Given the description of an element on the screen output the (x, y) to click on. 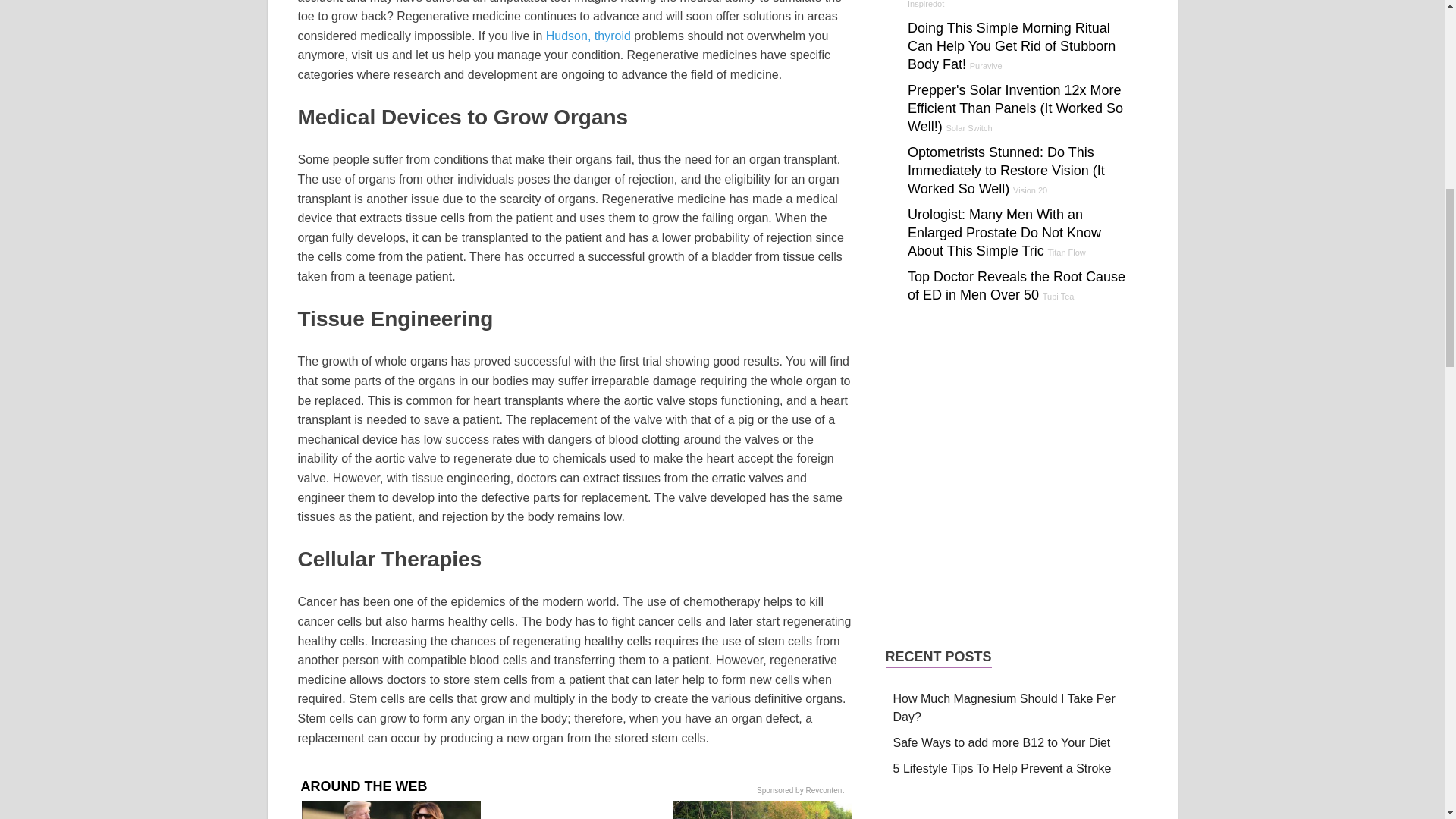
10 Melania Facts That Will Stun You (390, 809)
Hudson, thyroid (588, 35)
